Given the description of an element on the screen output the (x, y) to click on. 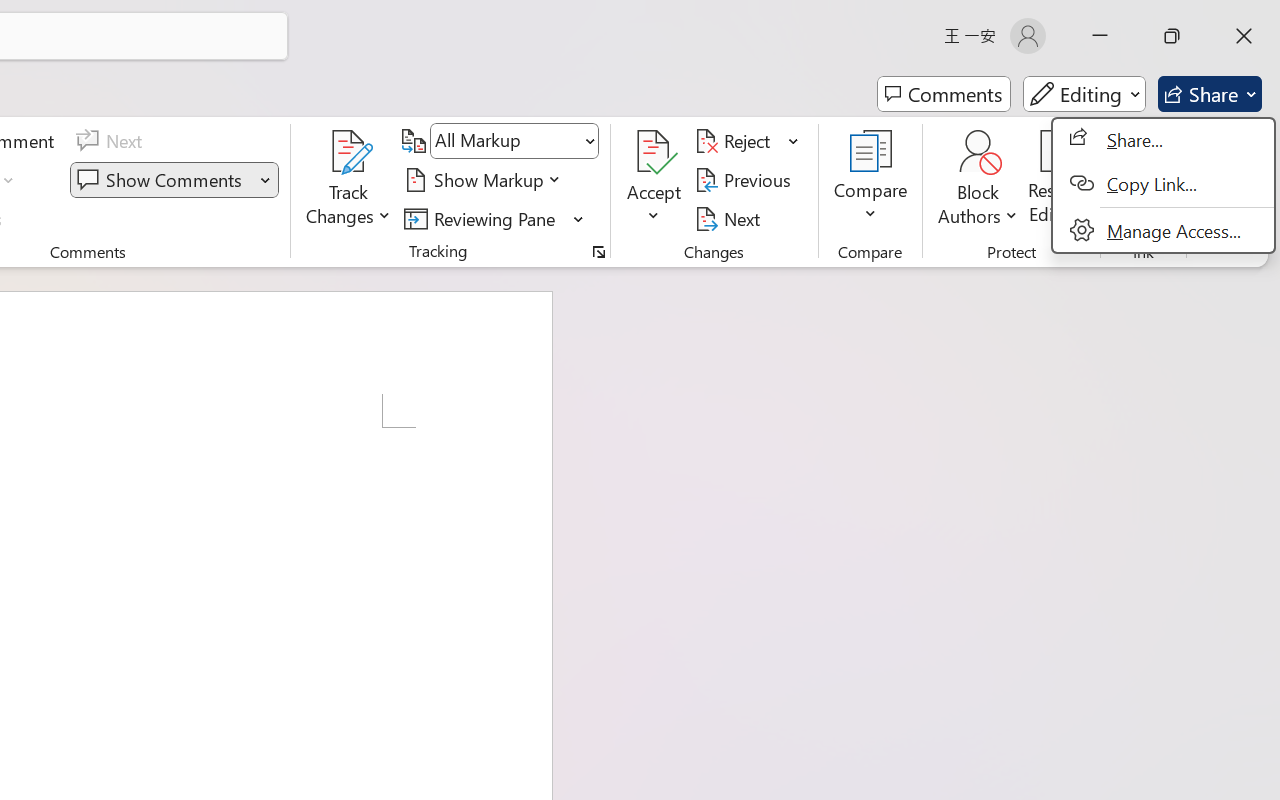
Accept (653, 179)
Display for Review (514, 141)
Compare (870, 179)
Track Changes (349, 179)
Reject and Move to Next (735, 141)
Next (730, 218)
Block Authors (977, 179)
Block Authors (977, 151)
